Given the description of an element on the screen output the (x, y) to click on. 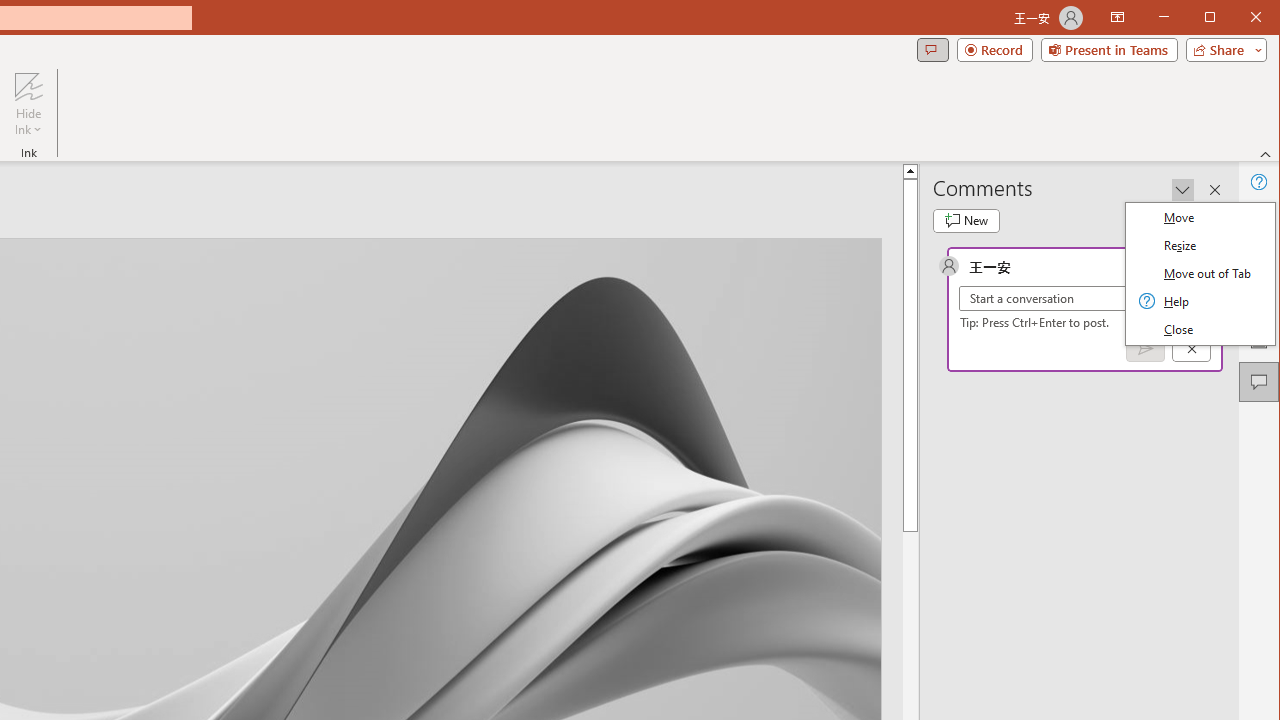
Record (994, 49)
New comment (966, 220)
Comments (932, 49)
Task Pane Options (1183, 189)
Close (1261, 18)
Hide Ink (28, 86)
